Given the description of an element on the screen output the (x, y) to click on. 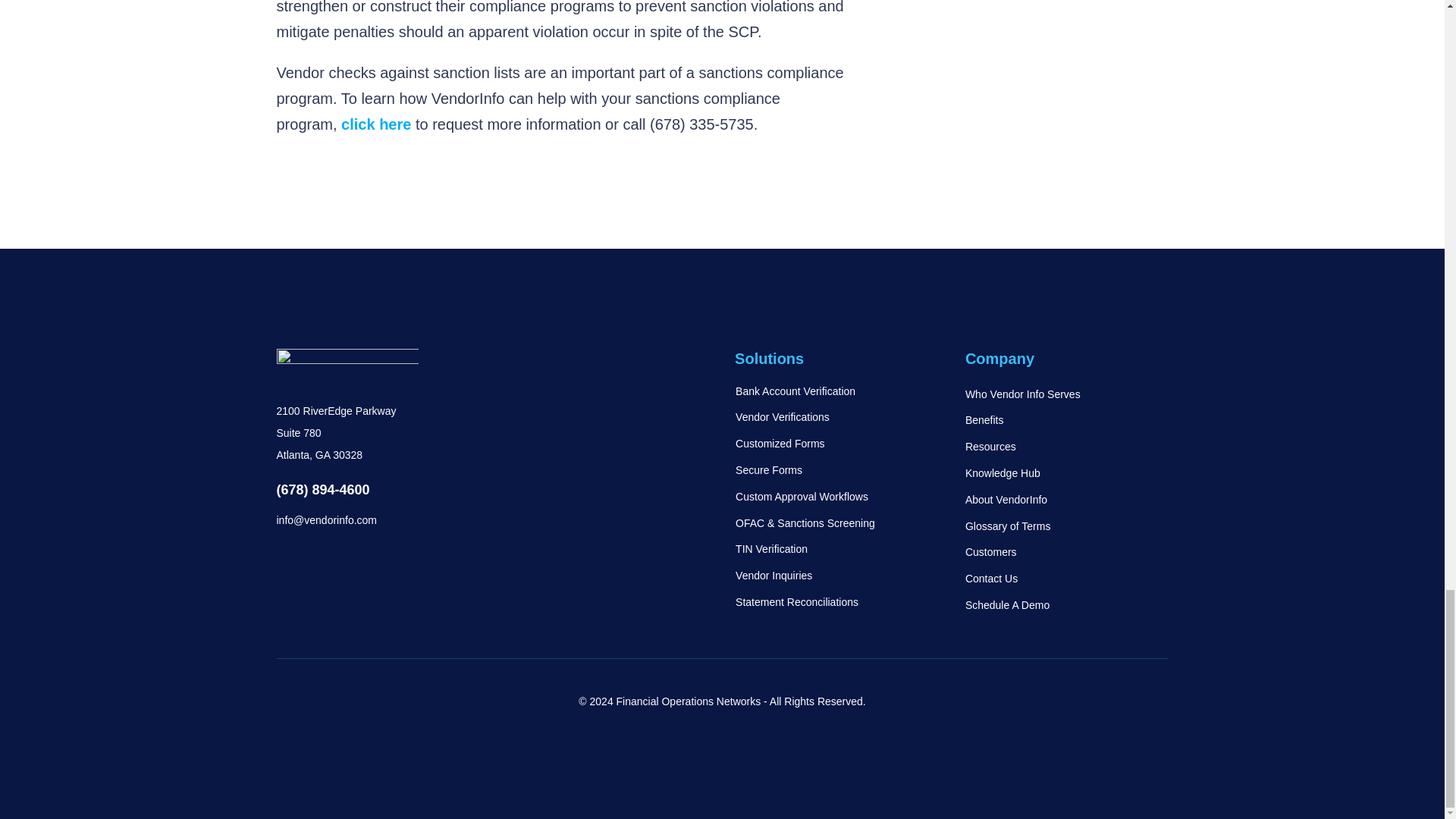
click here (375, 124)
VendorInfo-white (346, 365)
